Given the description of an element on the screen output the (x, y) to click on. 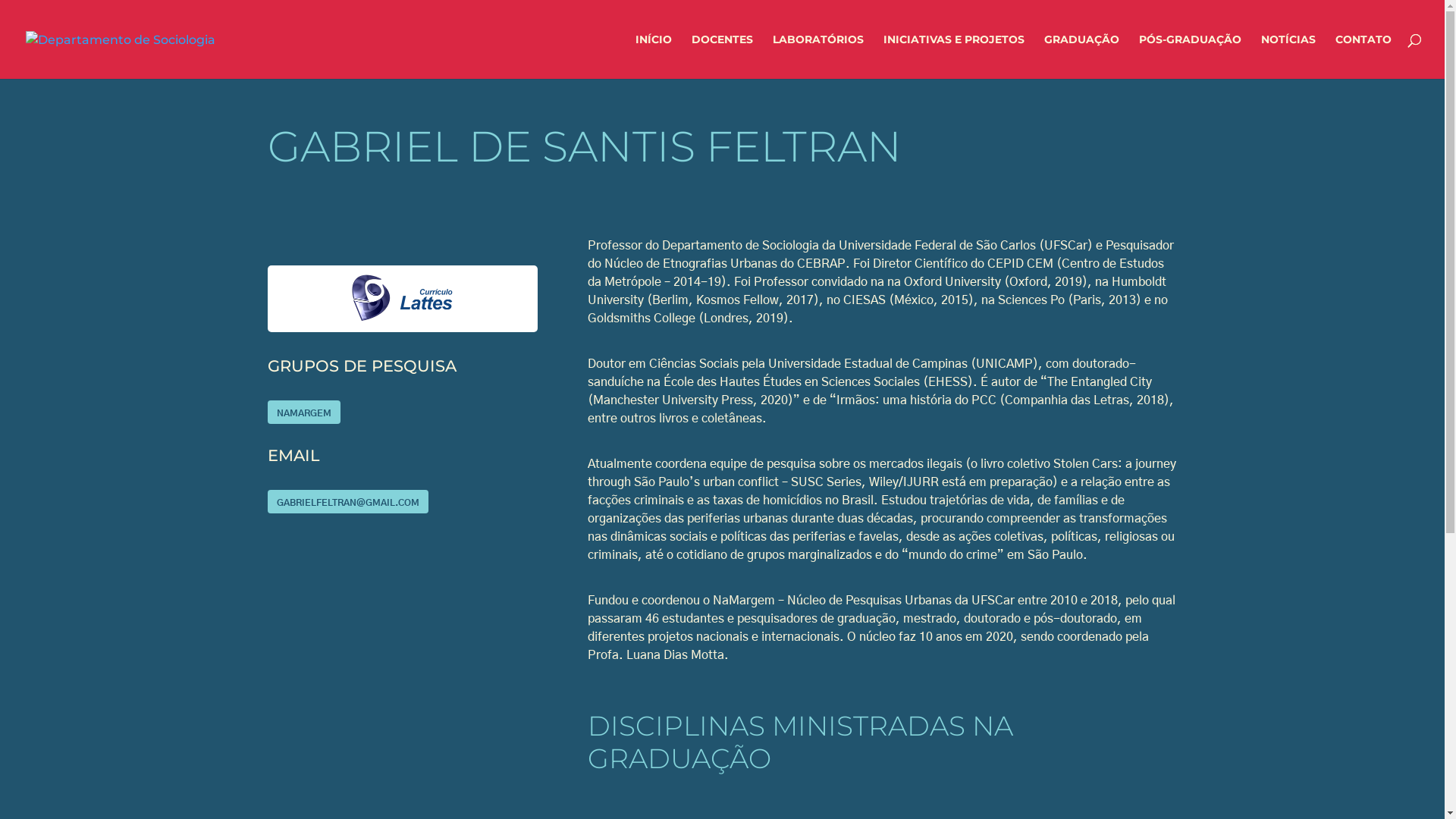
DOCENTES Element type: text (722, 56)
CONTATO Element type: text (1363, 56)
NAMARGEM Element type: text (302, 411)
INICIATIVAS E PROJETOS Element type: text (953, 56)
GABRIELFELTRAN@GMAIL.COM Element type: text (346, 501)
